Given the description of an element on the screen output the (x, y) to click on. 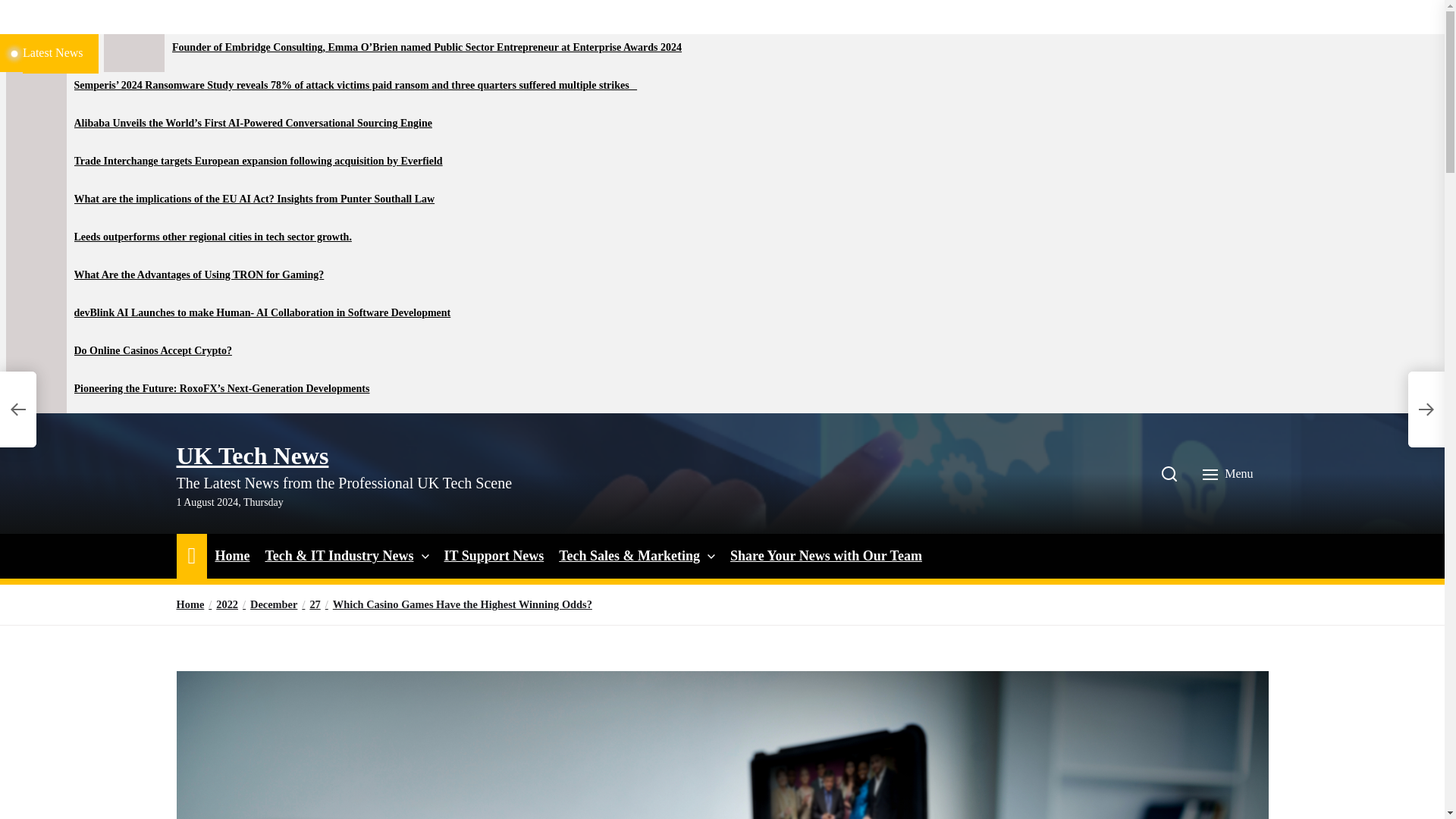
Menu (1229, 473)
IT Support News (494, 556)
UK Tech News (252, 455)
Home (231, 556)
